Given the description of an element on the screen output the (x, y) to click on. 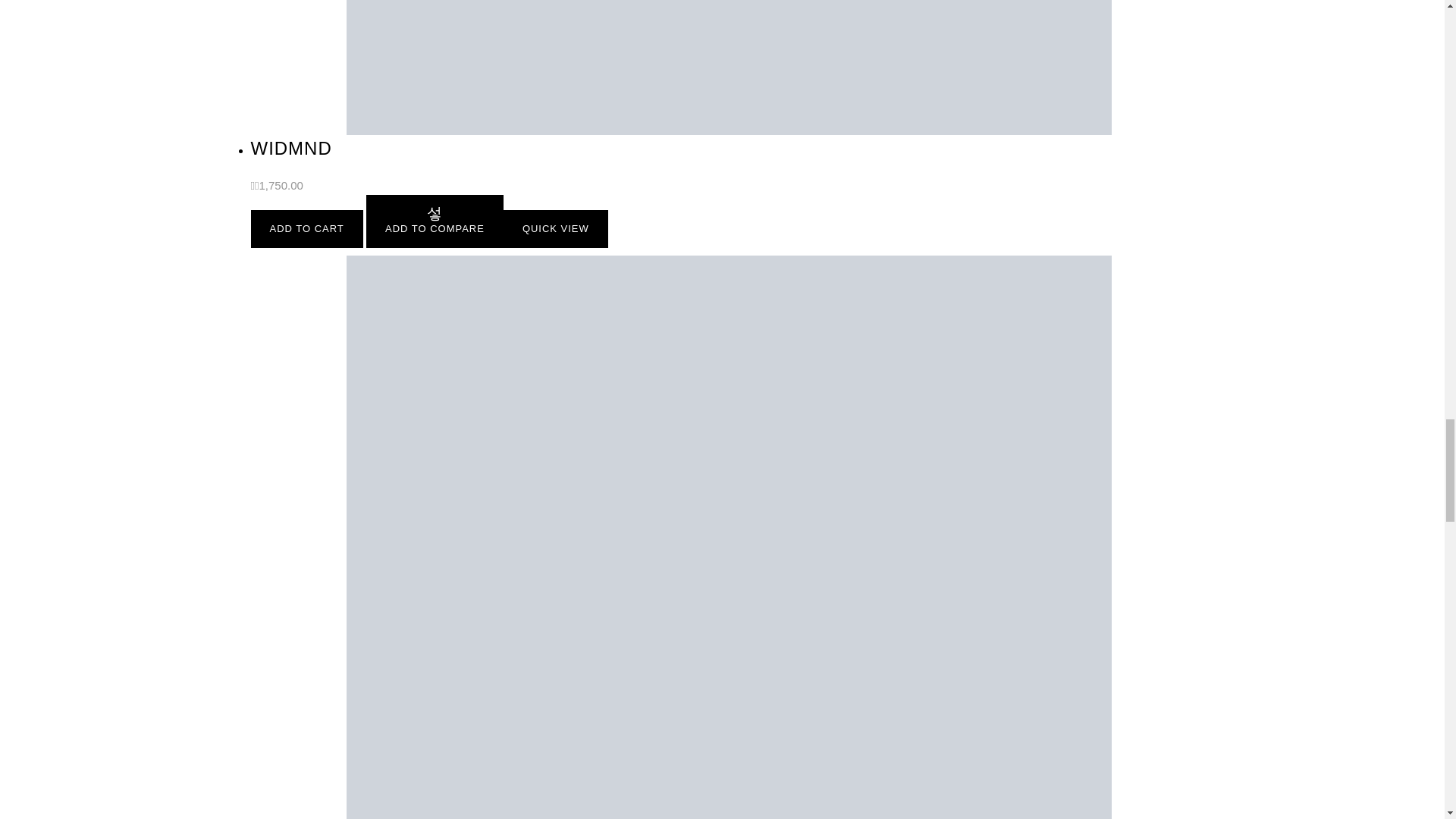
Add to compare (434, 221)
WIDMND (728, 67)
WIDMND (290, 148)
Add to cart (306, 228)
Quick view (555, 228)
